Given the description of an element on the screen output the (x, y) to click on. 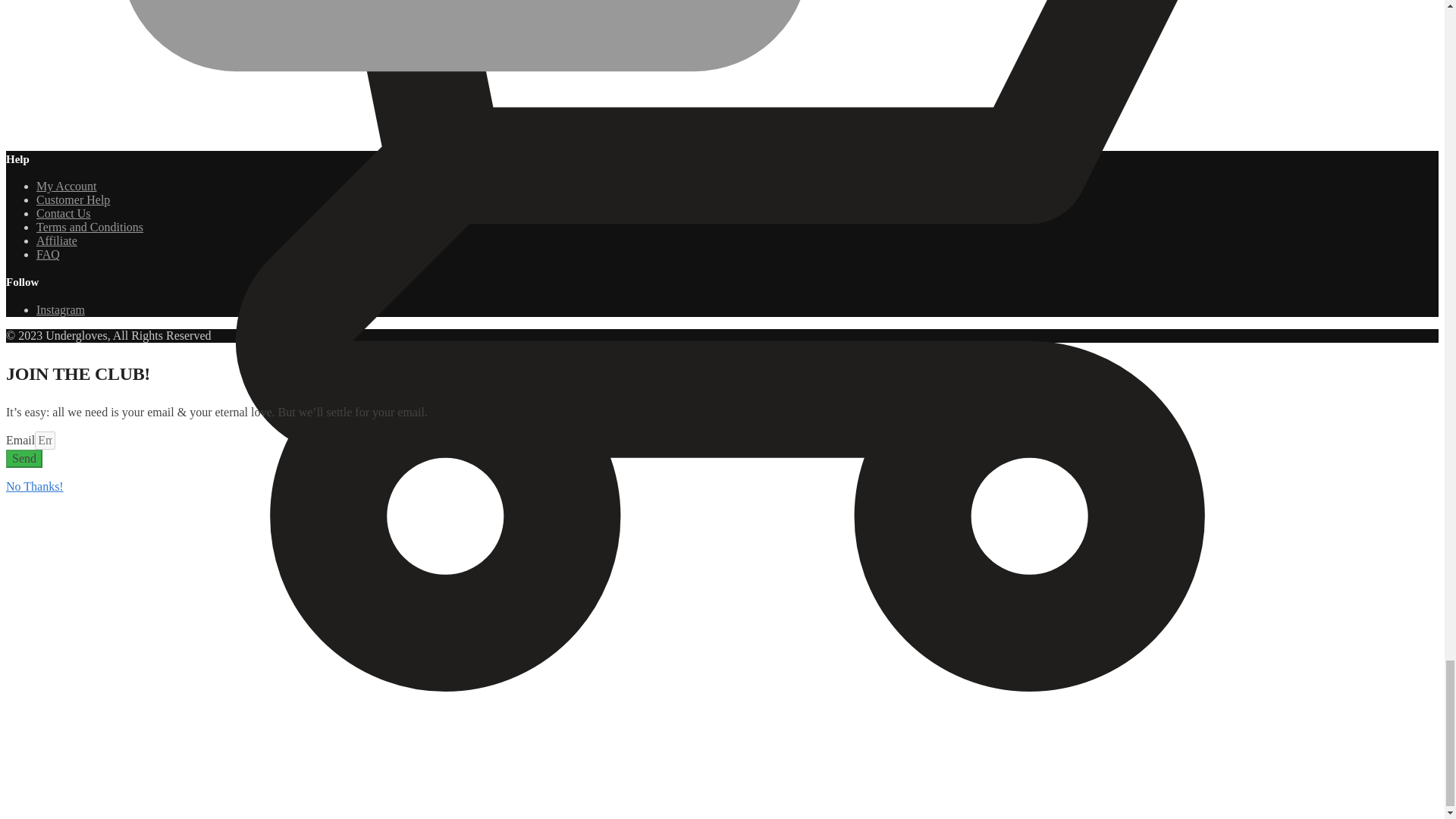
Instagram (60, 309)
Terms and Conditions (89, 226)
FAQ (47, 254)
Contact Us (63, 213)
Send (23, 458)
My Account (66, 185)
No Thanks! (34, 486)
Customer Help (73, 199)
Affiliate (56, 240)
